Given the description of an element on the screen output the (x, y) to click on. 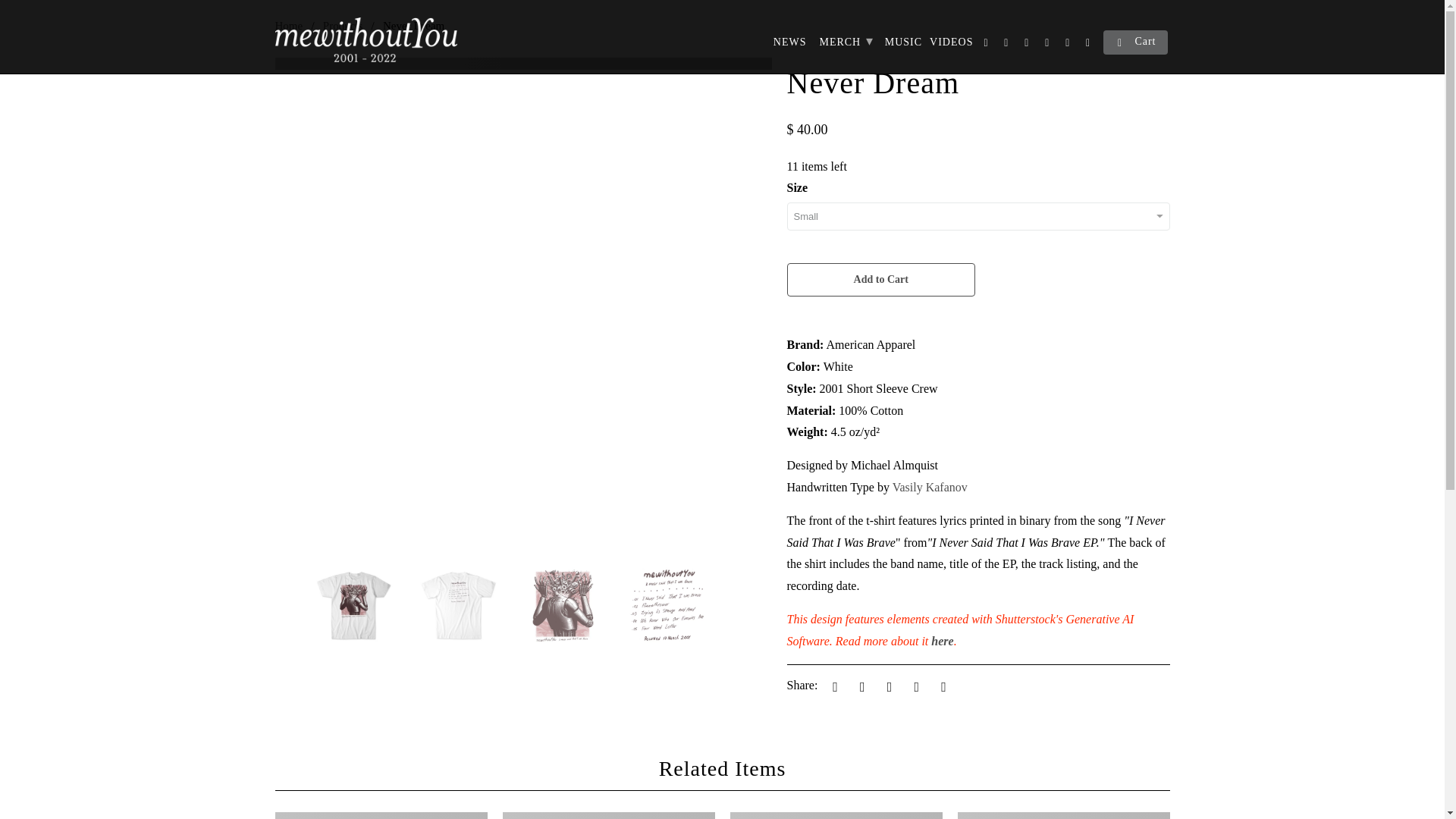
mewithoutYou (288, 25)
Share this on Pinterest (887, 685)
Share this on Twitter (832, 685)
Vasily Kafanov (930, 486)
Add to Cart (881, 279)
Products (342, 25)
Share this on Facebook (859, 685)
Home (288, 25)
Never Dream (523, 63)
Products (342, 25)
Email this to a friend (940, 685)
